Given the description of an element on the screen output the (x, y) to click on. 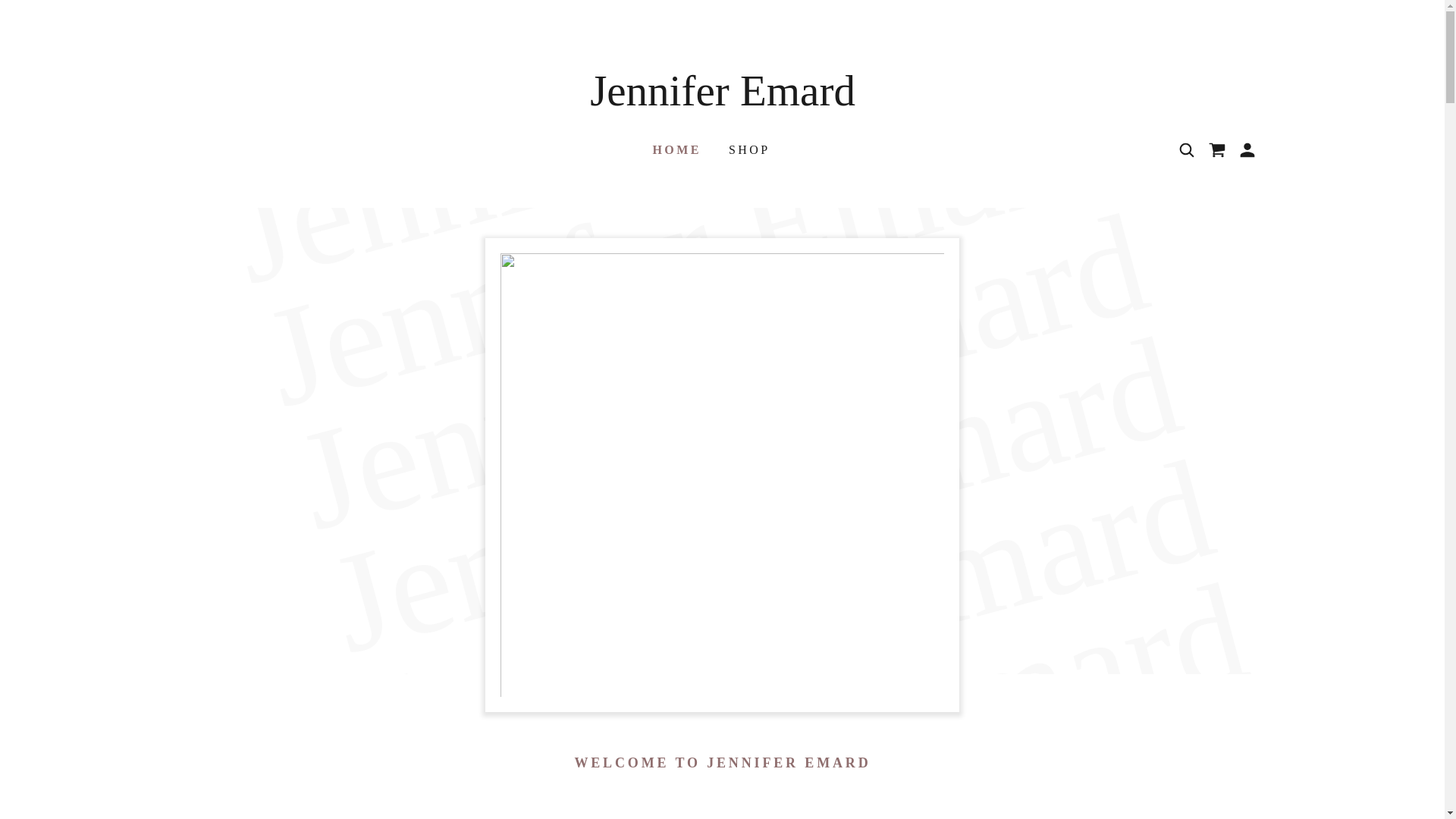
SHOP (747, 149)
HOME (674, 149)
Jennifer Emard  (722, 100)
Jennifer Emard (722, 100)
